Given the description of an element on the screen output the (x, y) to click on. 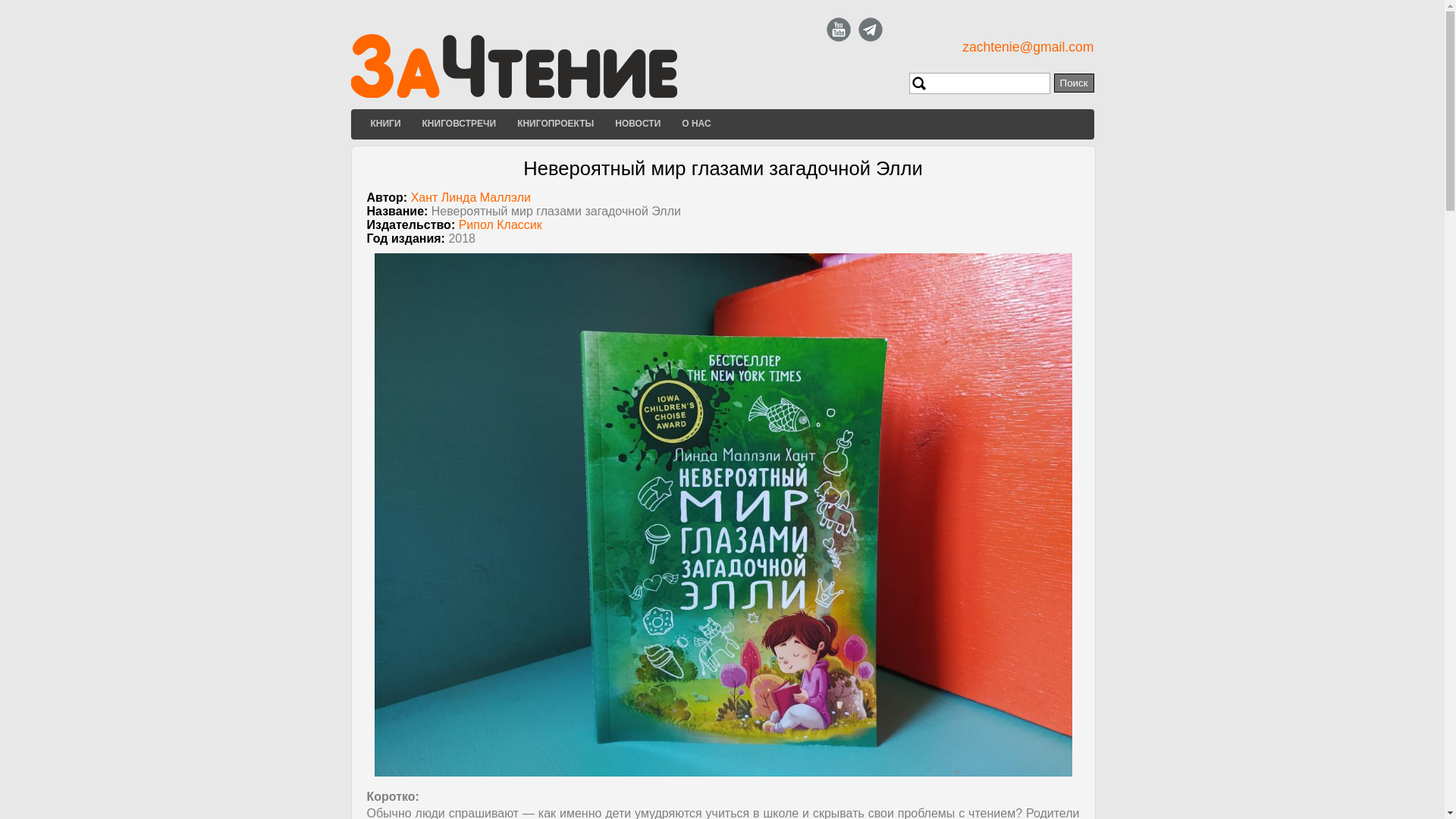
zachtenie@gmail.com Element type: text (1027, 46)
